Given the description of an element on the screen output the (x, y) to click on. 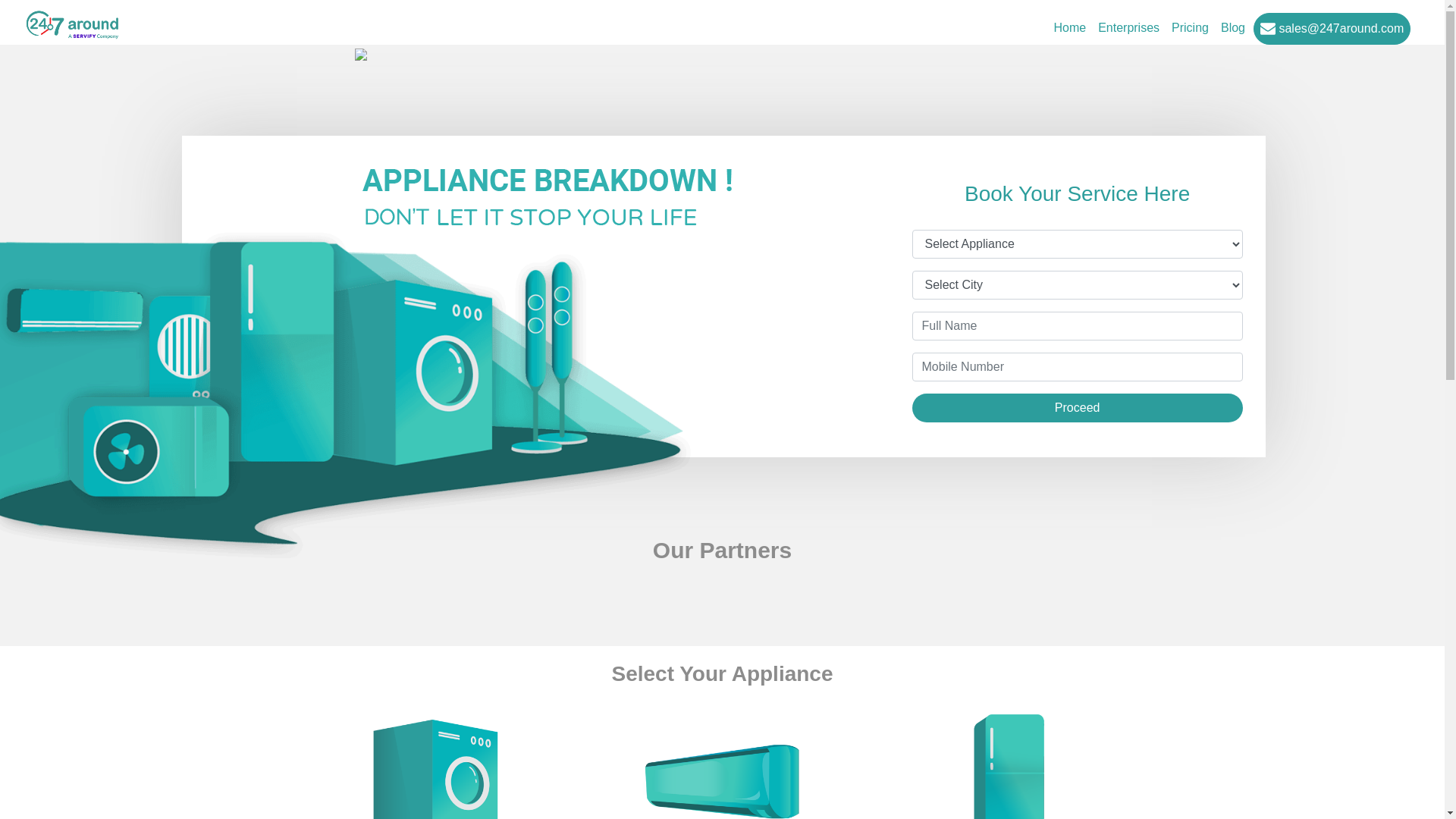
sales@247around.com Element type: text (1331, 28)
Proceed Element type: text (1076, 407)
Pricing Element type: text (1189, 27)
Home Element type: text (1069, 27)
Blog Element type: text (1232, 27)
Enterprises Element type: text (1128, 27)
